Given the description of an element on the screen output the (x, y) to click on. 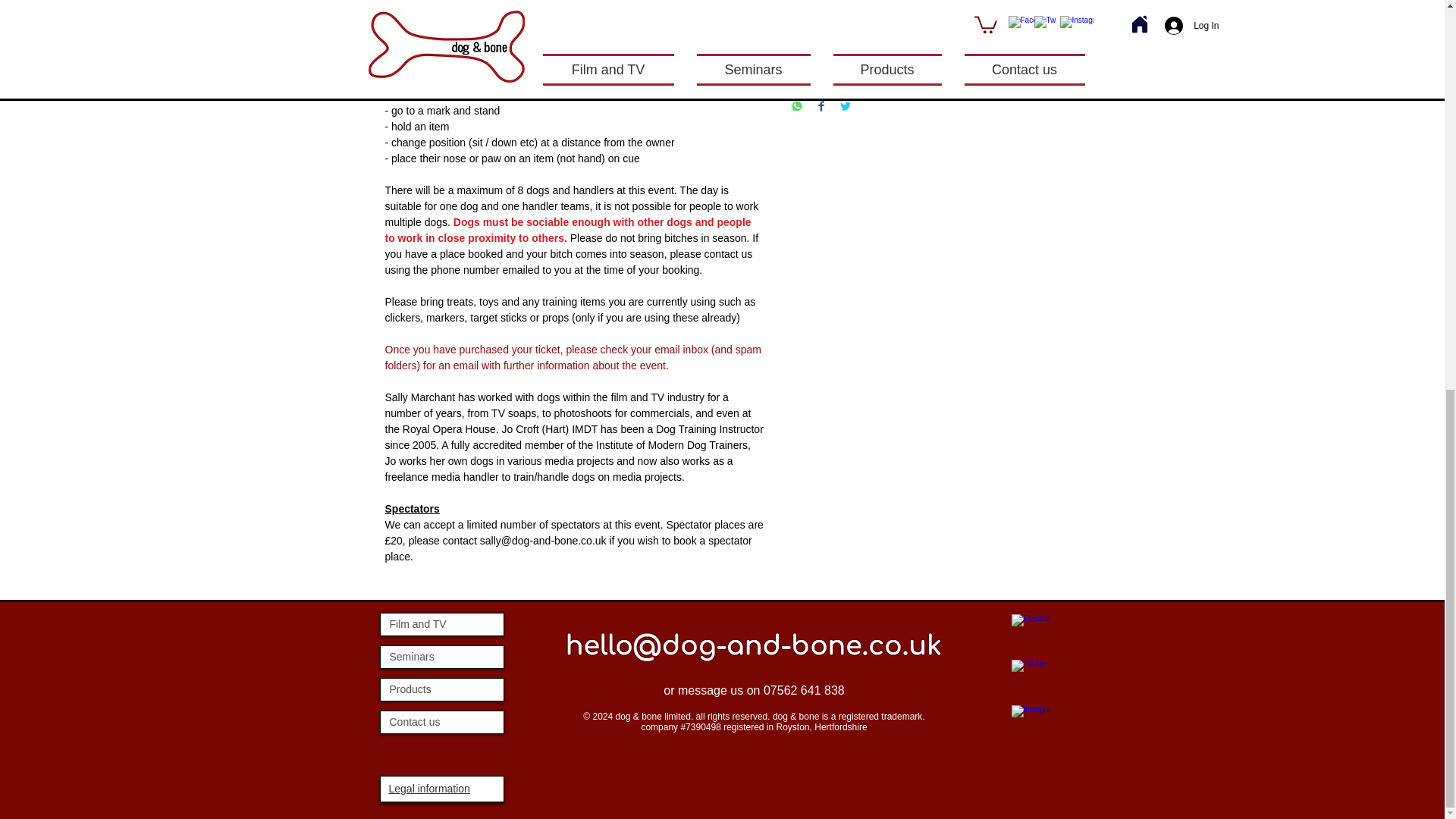
FAQs (924, 7)
Legal information (428, 788)
Film and TV (441, 624)
Seminars (441, 657)
Products (441, 689)
About the Speakers (924, 59)
Contact us (441, 722)
